Given the description of an element on the screen output the (x, y) to click on. 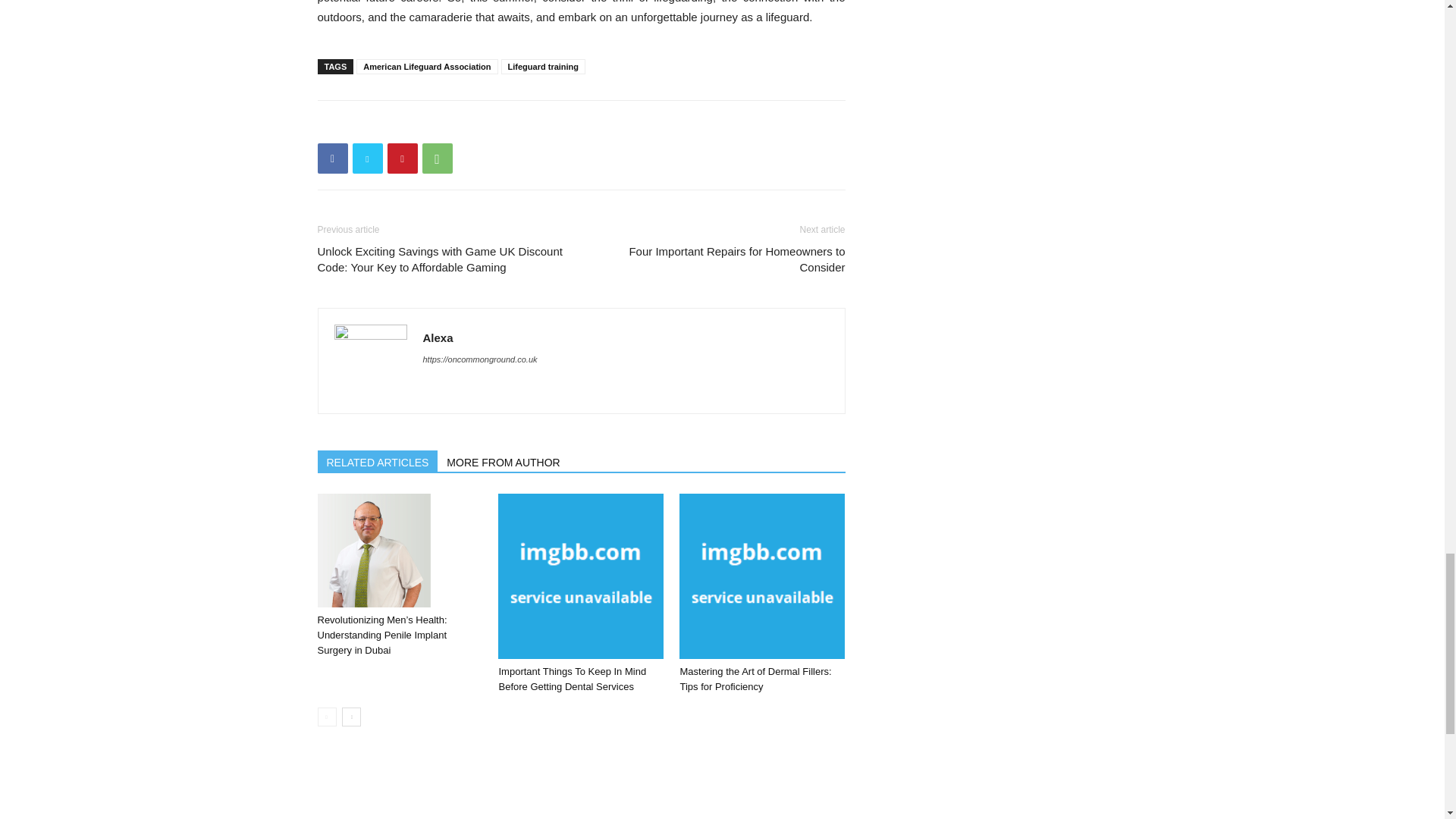
Facebook (332, 158)
Pinterest (401, 158)
Twitter (366, 158)
